Given the description of an element on the screen output the (x, y) to click on. 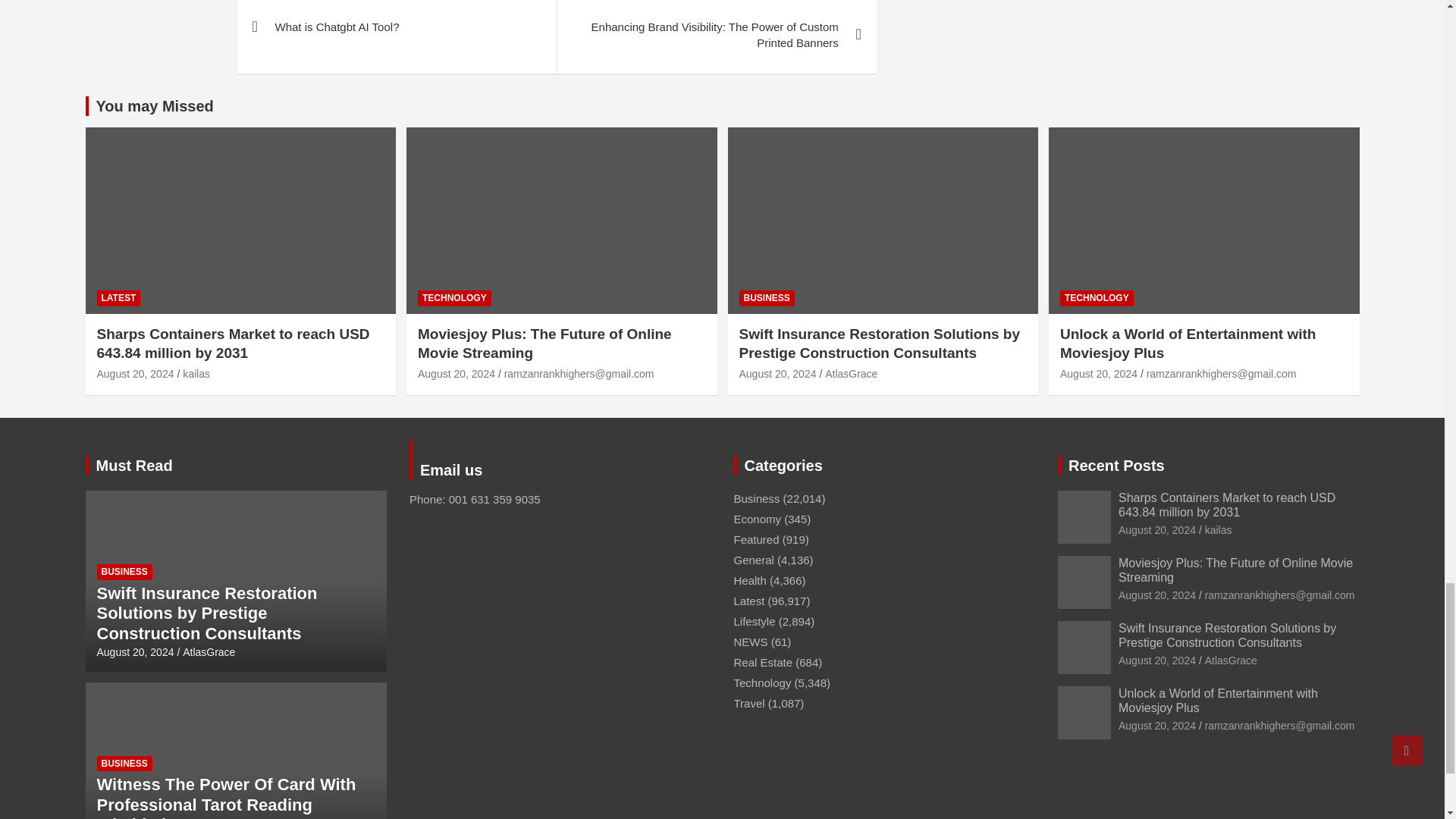
Unlock a World of Entertainment with Moviesjoy Plus (1098, 373)
Moviesjoy Plus: The Future of Online Movie Streaming (1156, 594)
Sharps Containers Market to reach USD 643.84 million by 2031 (1156, 530)
Moviesjoy Plus: The Future of Online Movie Streaming (456, 373)
Sharps Containers Market to reach USD 643.84 million by 2031 (135, 373)
What is Chatgbt AI Tool? (395, 28)
